Given the description of an element on the screen output the (x, y) to click on. 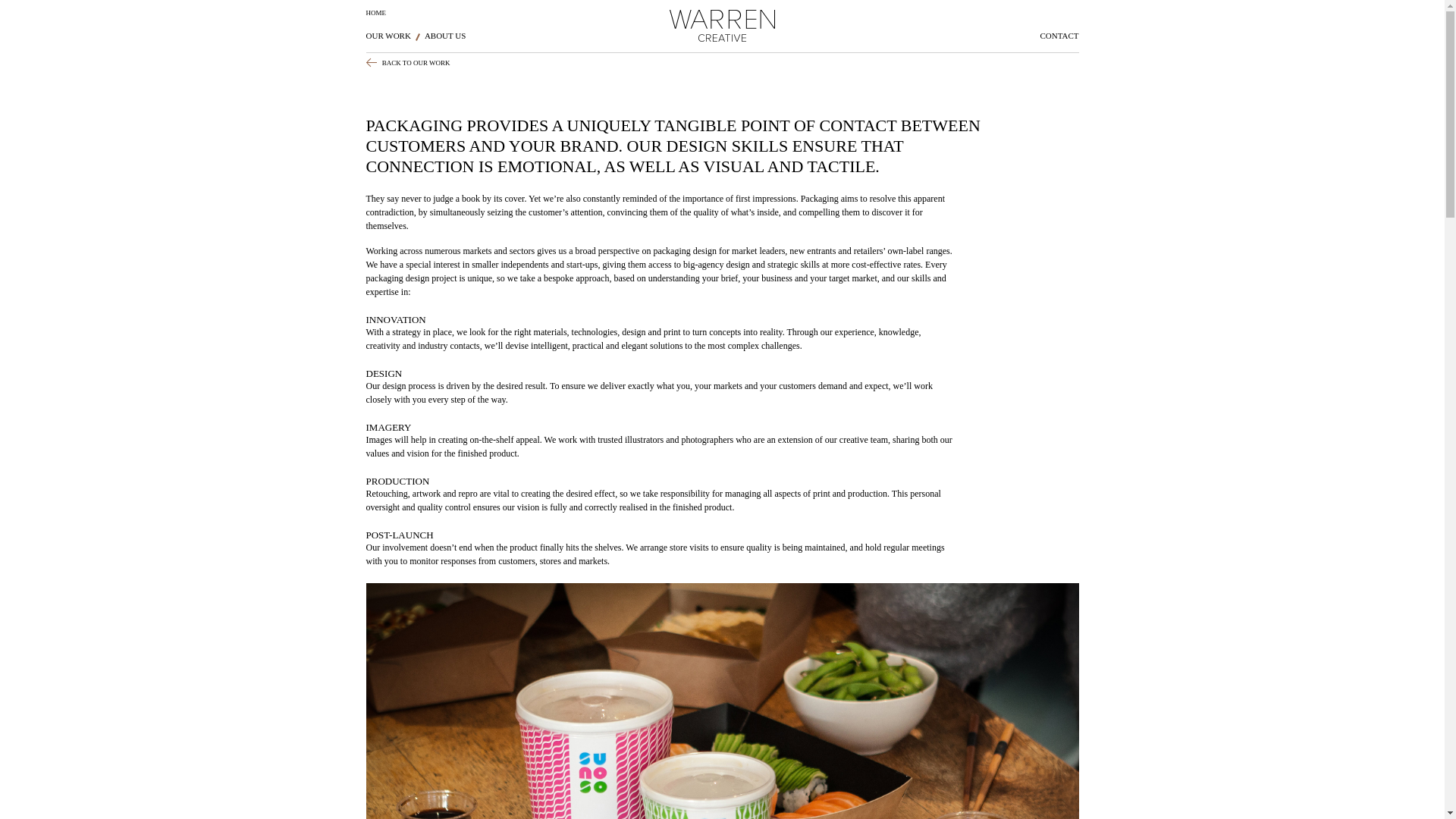
ABOUT US (445, 35)
BACK TO OUR WORK (407, 62)
OUR WORK (387, 35)
HOME (375, 13)
CONTACT (1058, 35)
